Given the description of an element on the screen output the (x, y) to click on. 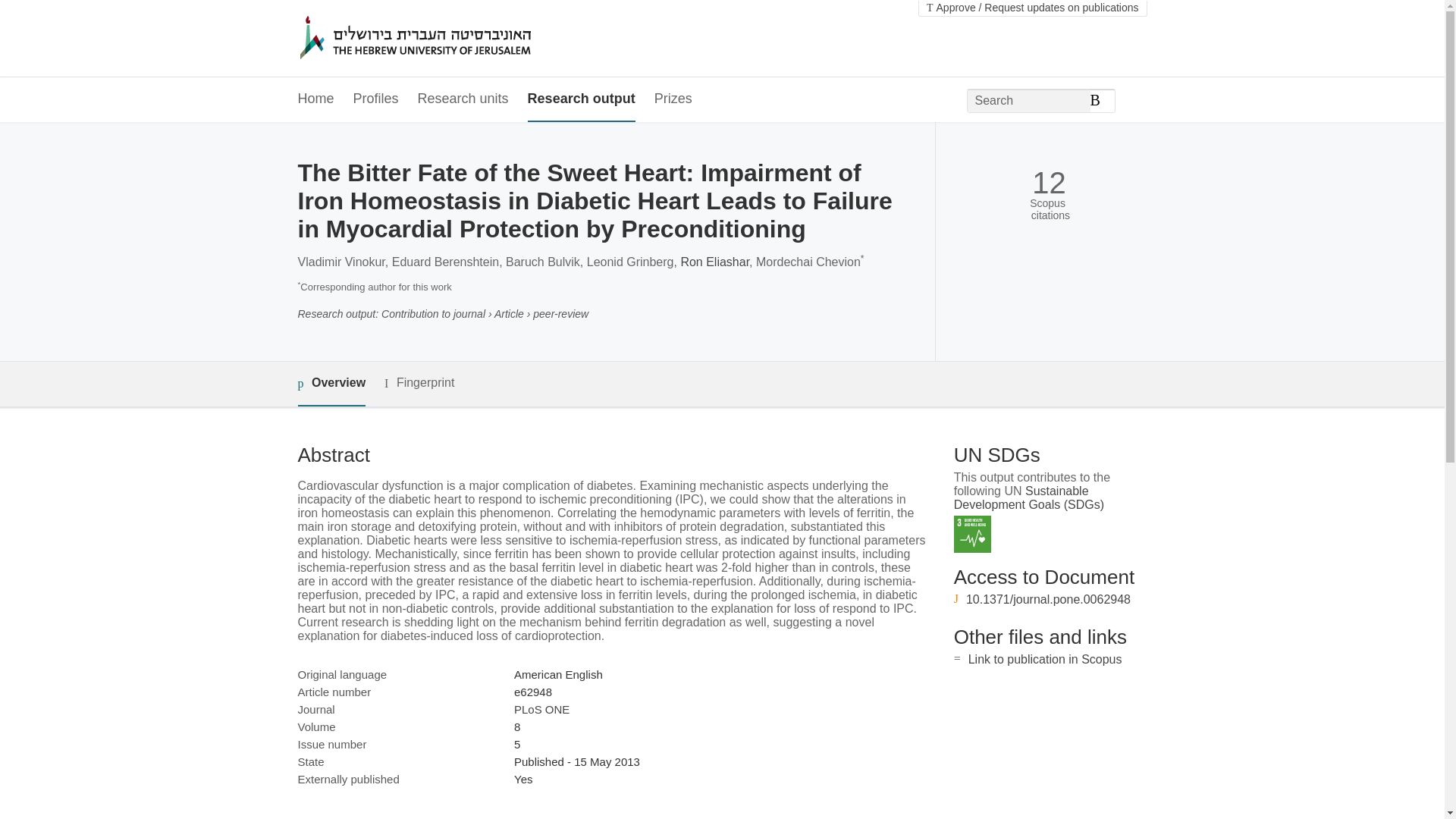
SDG 3 - Good Health and Well-being (972, 533)
Research units (462, 99)
Link to publication in Scopus (1045, 658)
Fingerprint (419, 382)
Profiles (375, 99)
Overview (331, 383)
Research output (580, 99)
The Hebrew University of Jerusalem Home (447, 38)
PLoS ONE (541, 708)
Ron Eliashar (714, 261)
